Given the description of an element on the screen output the (x, y) to click on. 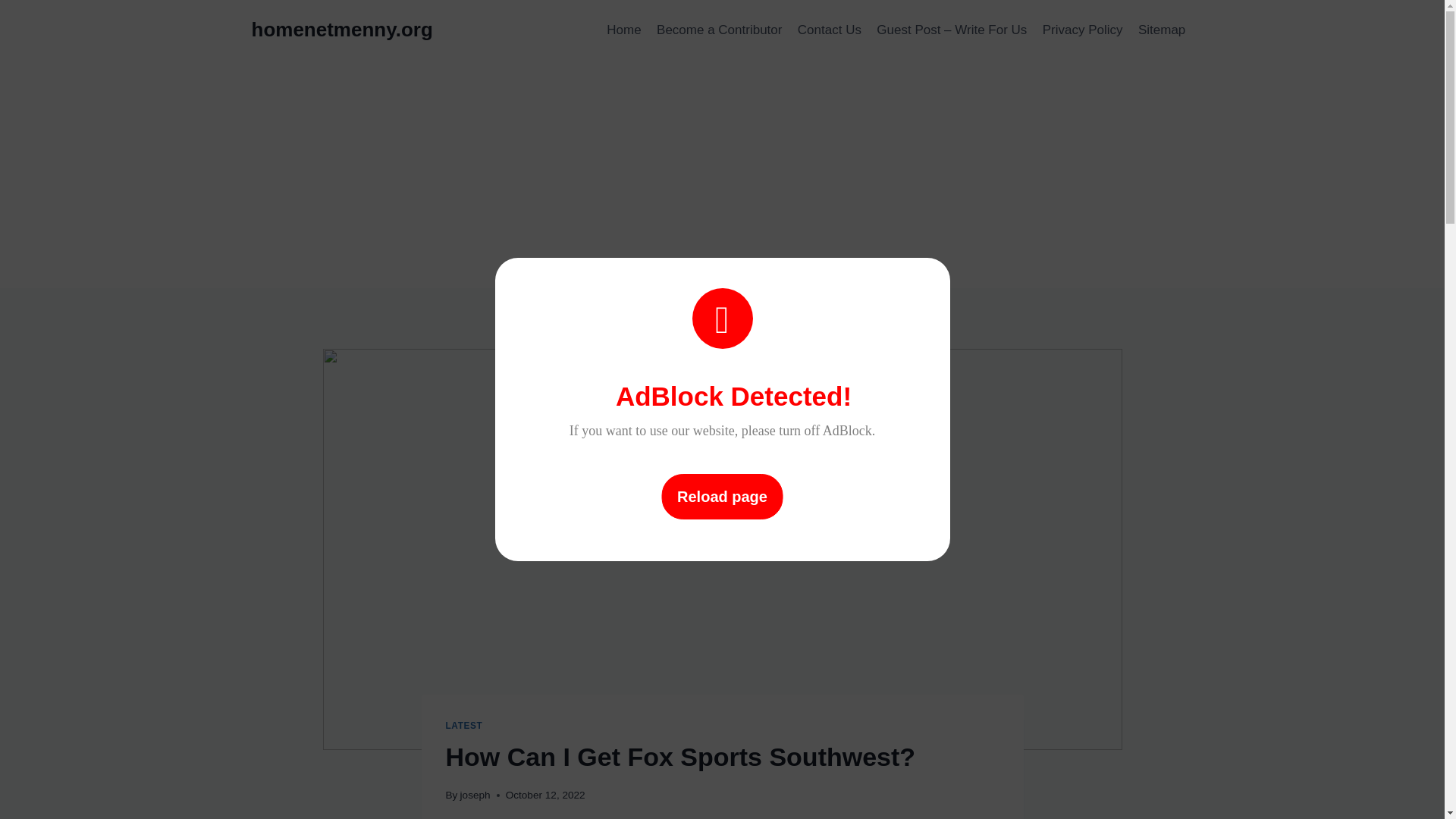
joseph (475, 794)
Become a Contributor (719, 30)
Privacy Policy (1083, 30)
Home (623, 30)
Contact Us (829, 30)
Sitemap (1162, 30)
Reload page (722, 496)
homenetmenny.org (341, 29)
LATEST (464, 725)
